Given the description of an element on the screen output the (x, y) to click on. 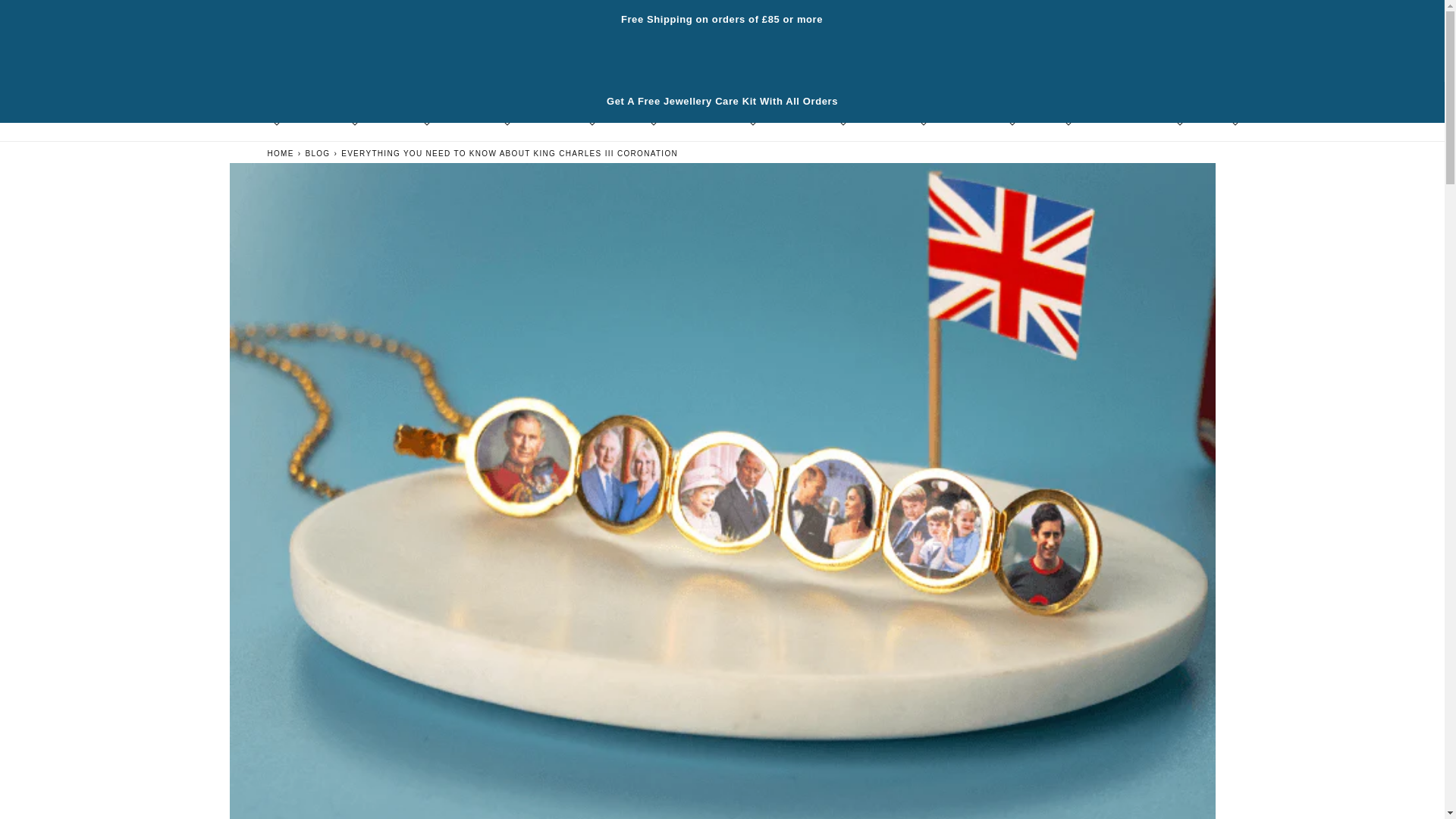
Skip to content (45, 17)
Home (280, 152)
